Given the description of an element on the screen output the (x, y) to click on. 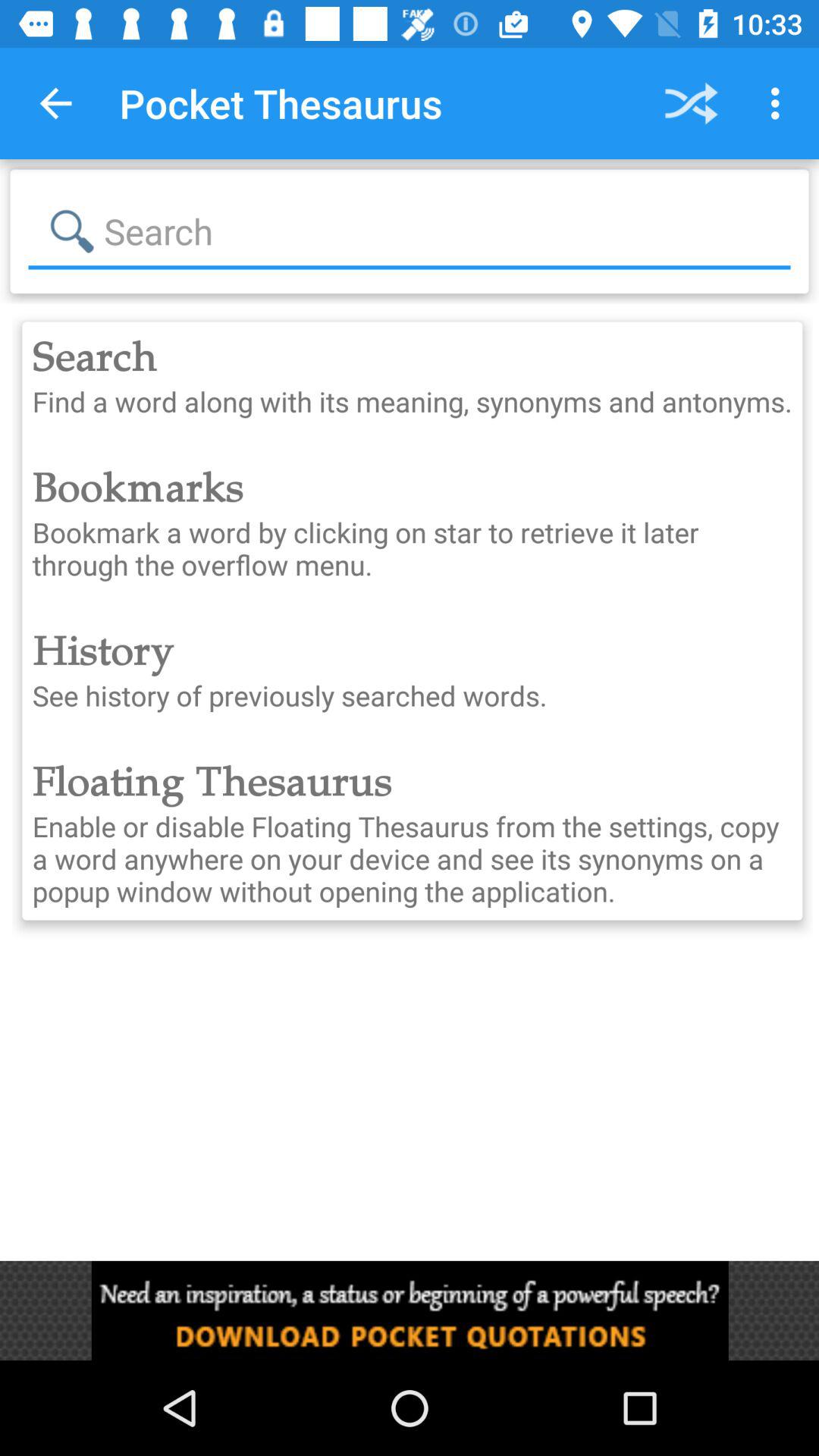
enter to search (409, 231)
